Given the description of an element on the screen output the (x, y) to click on. 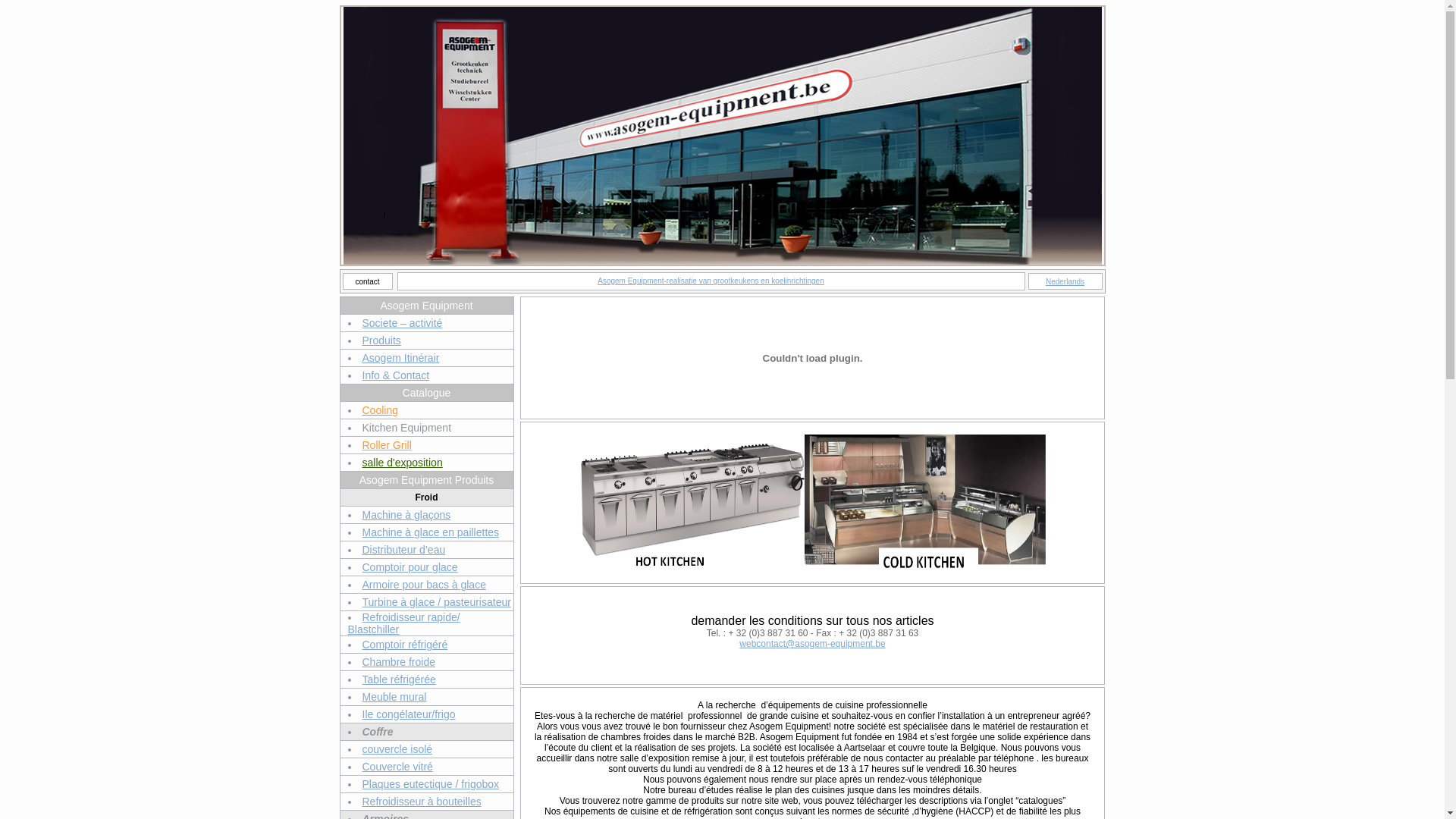
Info & Contact Element type: text (395, 375)
Nederlands Element type: text (1064, 281)
Chambre froide Element type: text (399, 661)
salle d'exposition Element type: text (402, 462)
Plaques eutectique / frigobox Element type: text (430, 784)
contact Element type: text (366, 280)
contact Element type: text (366, 281)
Nederlands Element type: text (1064, 280)
Cooling Element type: text (380, 410)
Meuble mural Element type: text (394, 696)
Roller Grill Element type: text (386, 445)
Produits Element type: text (381, 340)
webcontact@asogem-equipment.be Element type: text (811, 643)
Asogem Equipment banner Element type: hover (812, 407)
Refroidisseur rapide/ Blastchiller Element type: text (403, 623)
Comptoir pour glace Element type: text (410, 567)
